Given the description of an element on the screen output the (x, y) to click on. 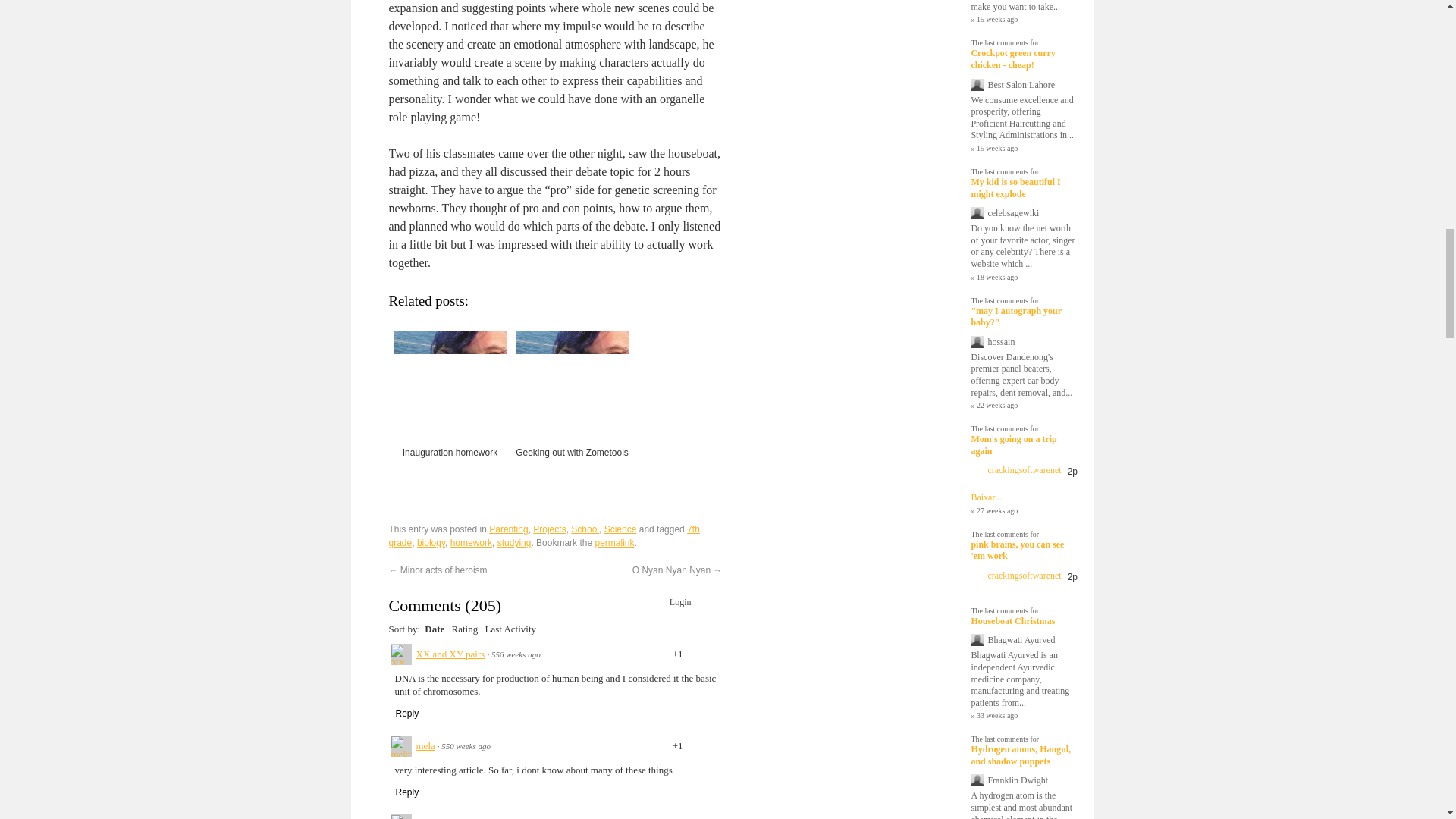
Comment Permalink (465, 746)
Parenting (508, 529)
7th grade (543, 535)
studying (514, 542)
Projects (549, 529)
permalink (613, 542)
Science (620, 529)
Comment Permalink (516, 654)
biology (430, 542)
Permalink to DNA singalong (613, 542)
